Given the description of an element on the screen output the (x, y) to click on. 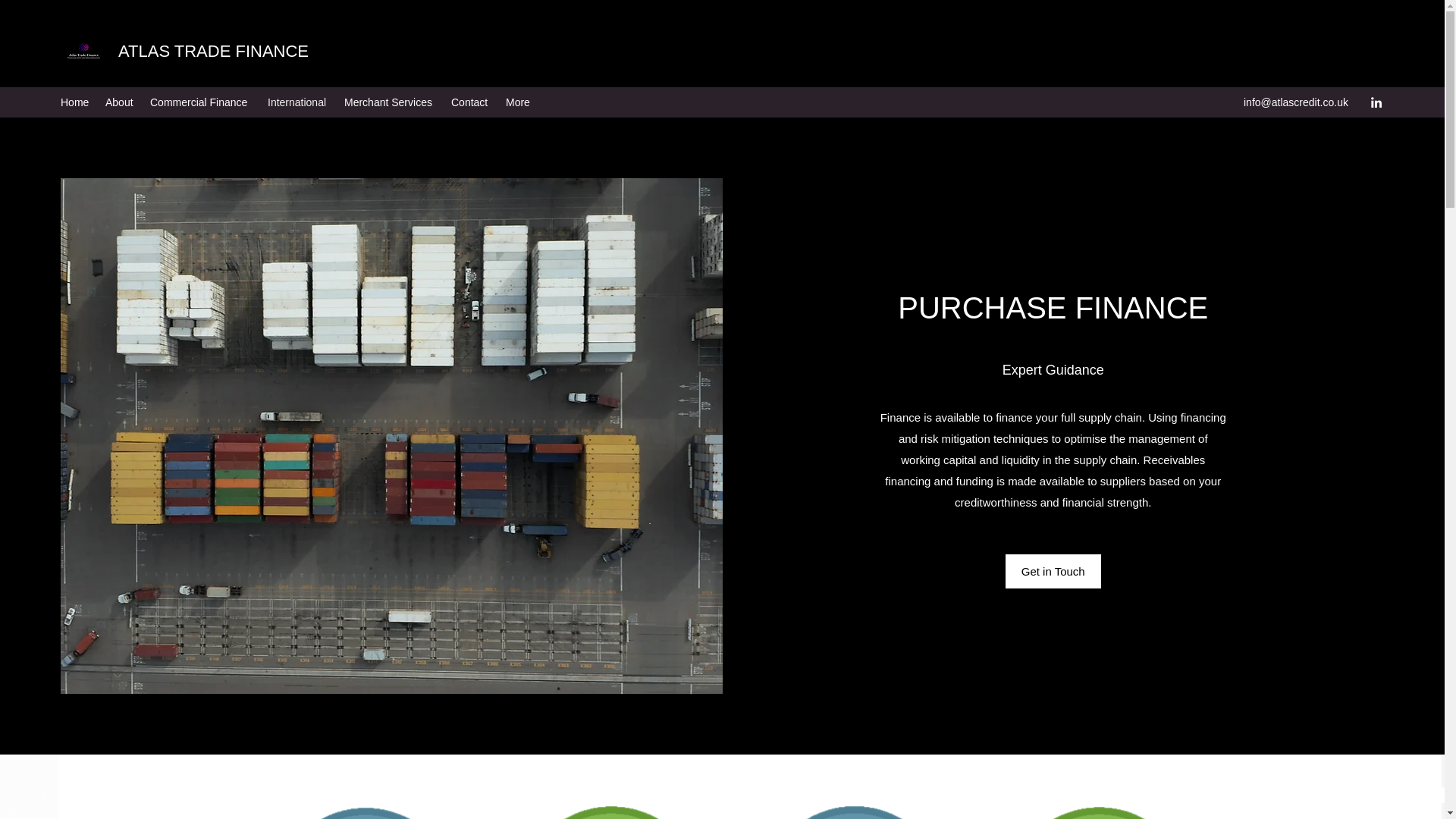
International (298, 101)
Home (74, 101)
Contact (470, 101)
ATLAS TRADE FINANCE (212, 50)
Get in Touch (1053, 571)
Commercial Finance (201, 101)
About (119, 101)
Merchant Services (390, 101)
